Given the description of an element on the screen output the (x, y) to click on. 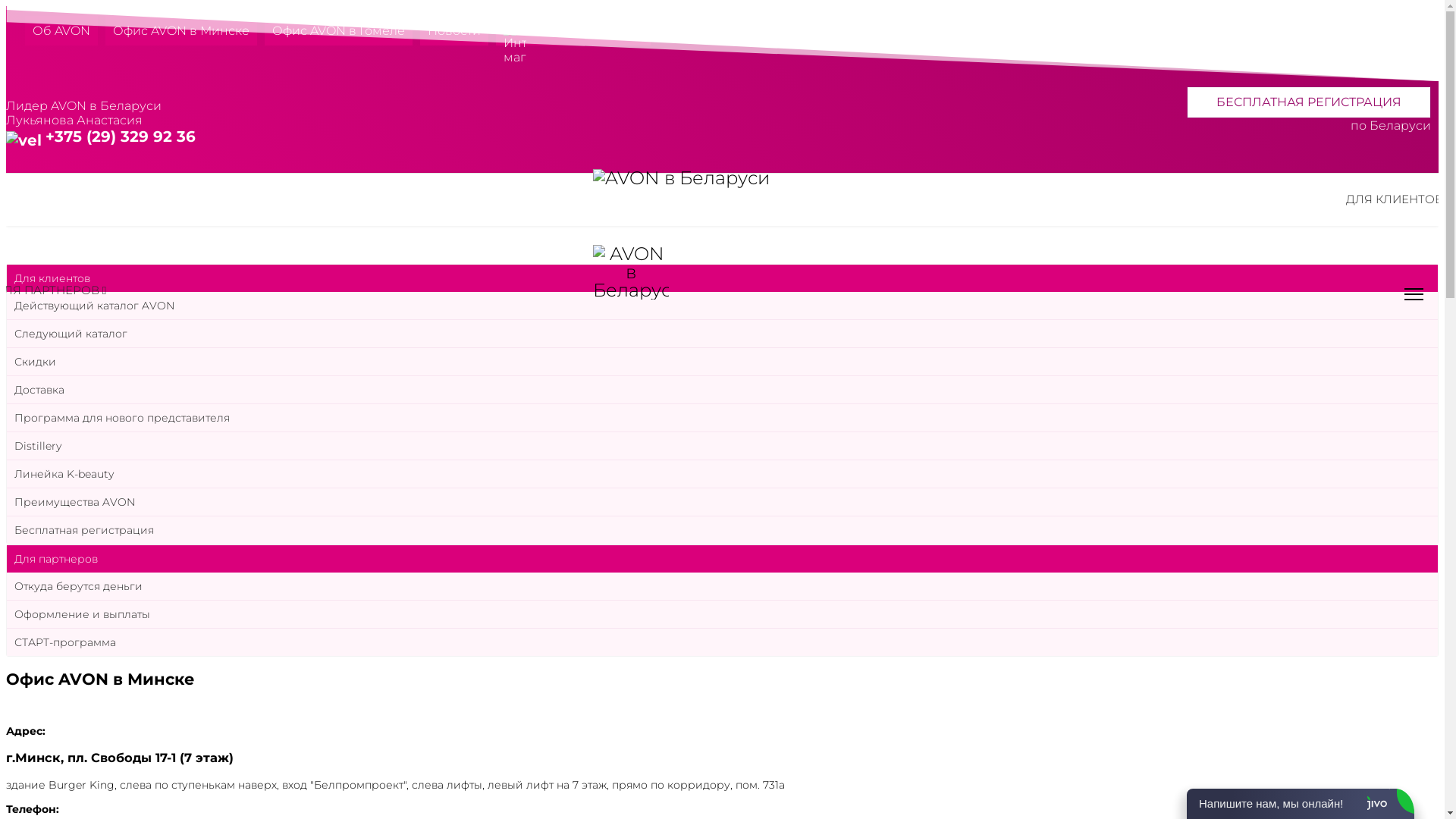
Distillery Element type: text (721, 445)
+375 (29) 329 92 36 Element type: text (120, 136)
